Given the description of an element on the screen output the (x, y) to click on. 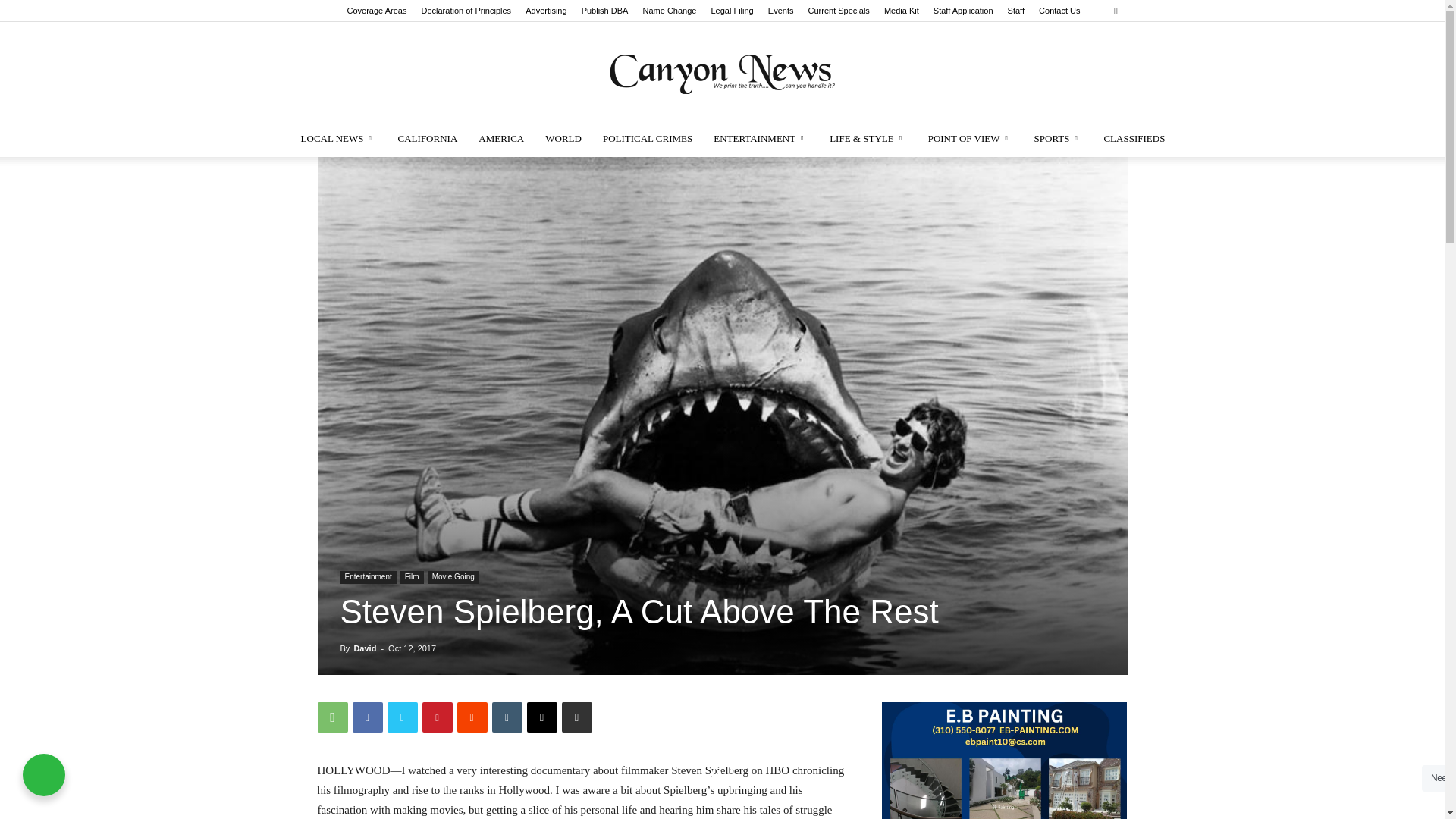
Facebook (366, 716)
We print the truth... can you handle it? (721, 71)
ReddIt (471, 716)
Pinterest (436, 716)
Email (540, 716)
Print (575, 716)
Tumblr (506, 716)
Twitter (401, 716)
WhatsApp (332, 716)
